Given the description of an element on the screen output the (x, y) to click on. 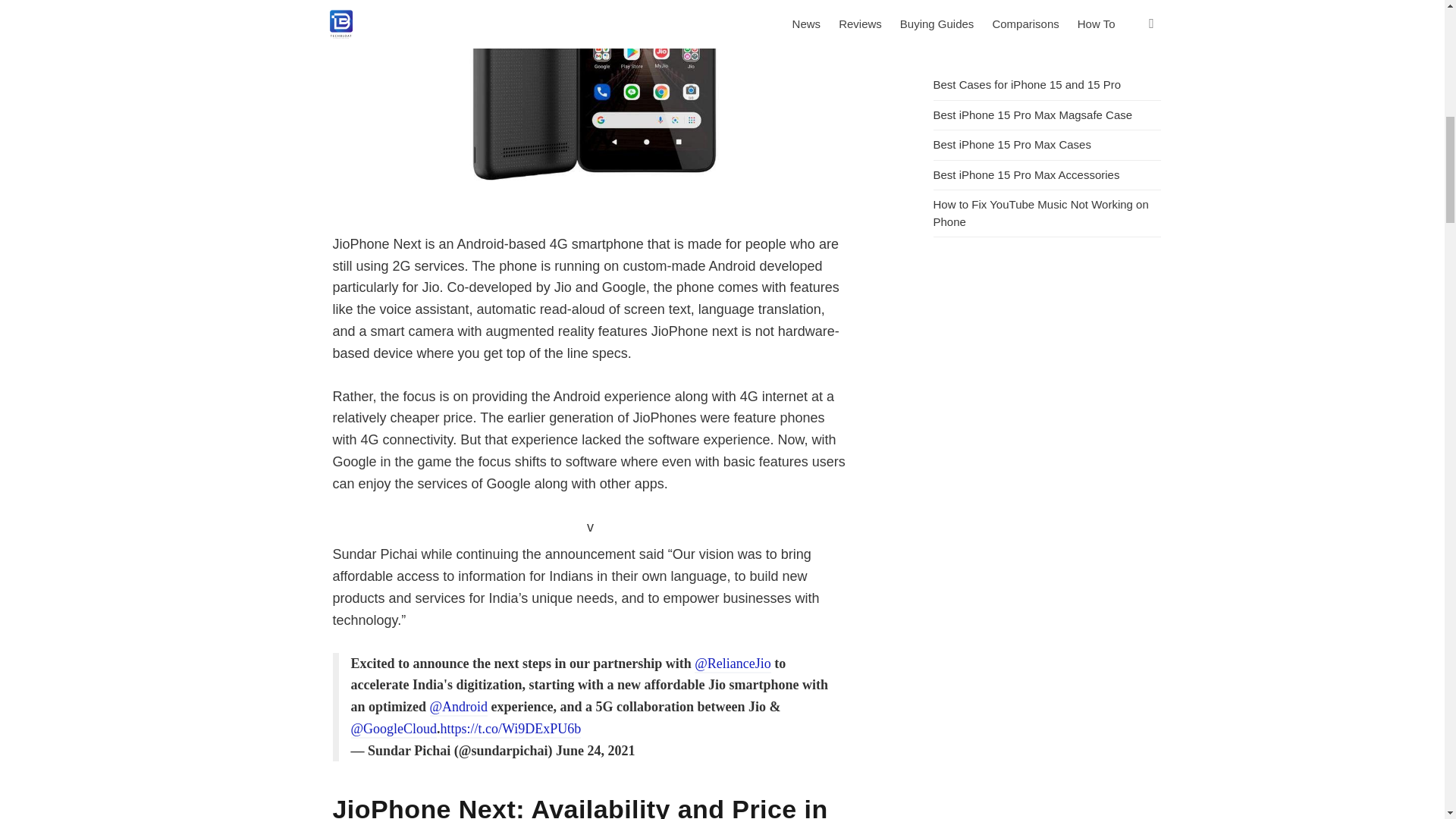
How to Fix YouTube Music Not Working on Phone (1040, 213)
Best iPhone 15 Pro Max Magsafe Case (1032, 114)
Best Cases for iPhone 15 and 15 Pro (1027, 83)
June 24, 2021 (595, 750)
Best iPhone 15 Pro Max Accessories (1026, 174)
